Given the description of an element on the screen output the (x, y) to click on. 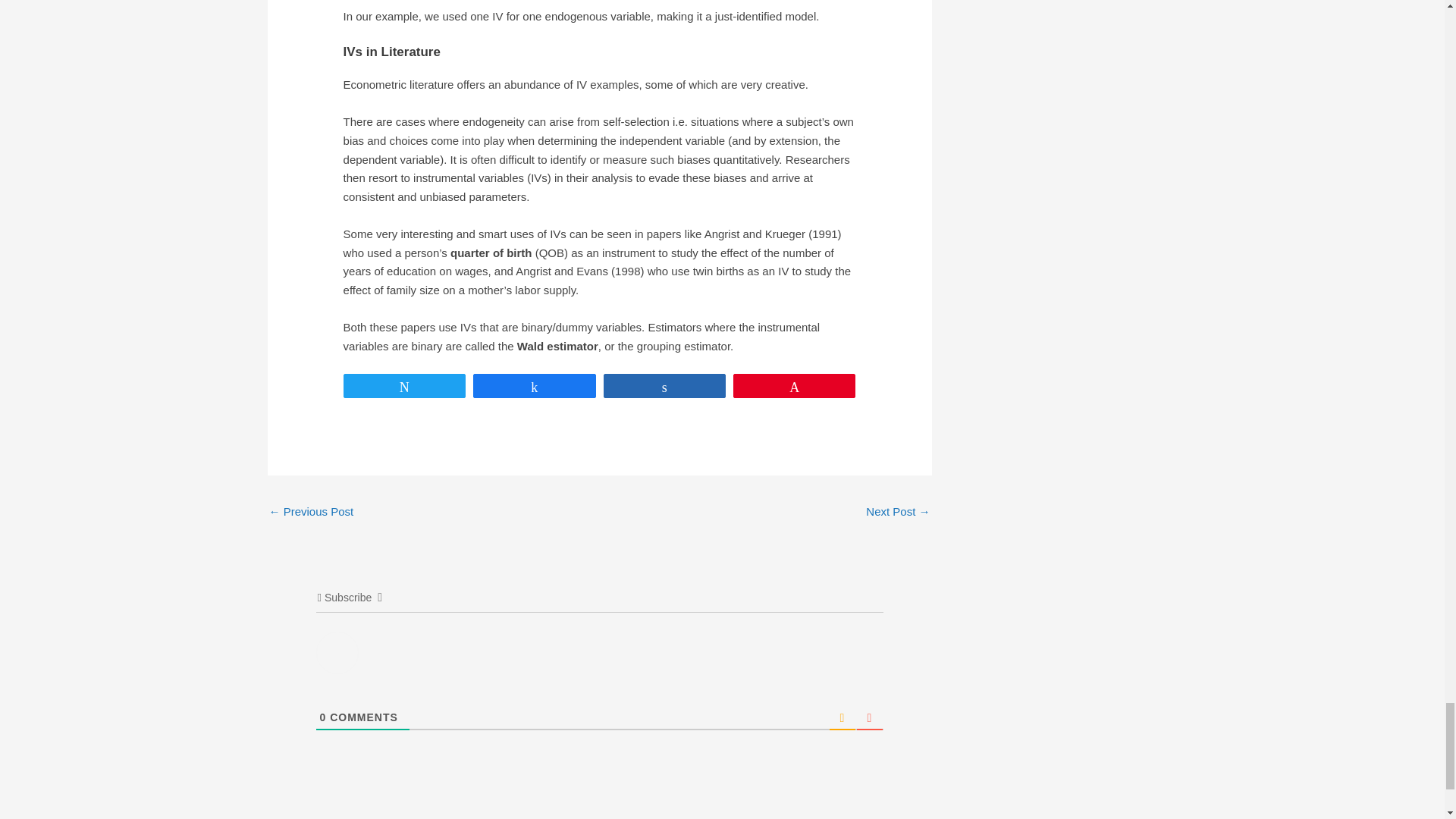
Combine Multiple CSV, Excel and Txt Files in R (898, 512)
If-else statement in R (310, 512)
